Given the description of an element on the screen output the (x, y) to click on. 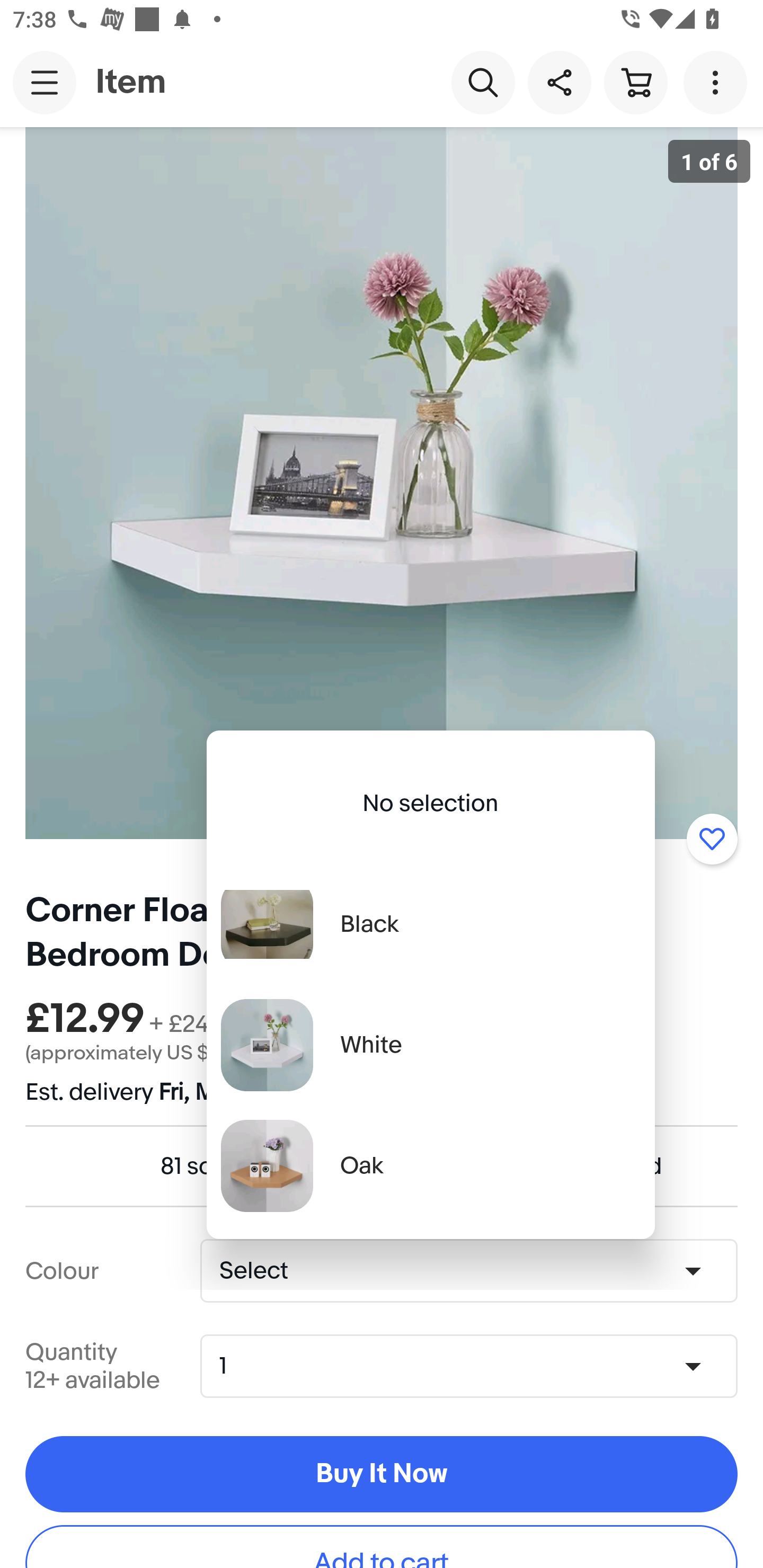
No selection (430, 803)
Black (430, 923)
White (430, 1044)
Oak (430, 1165)
